Given the description of an element on the screen output the (x, y) to click on. 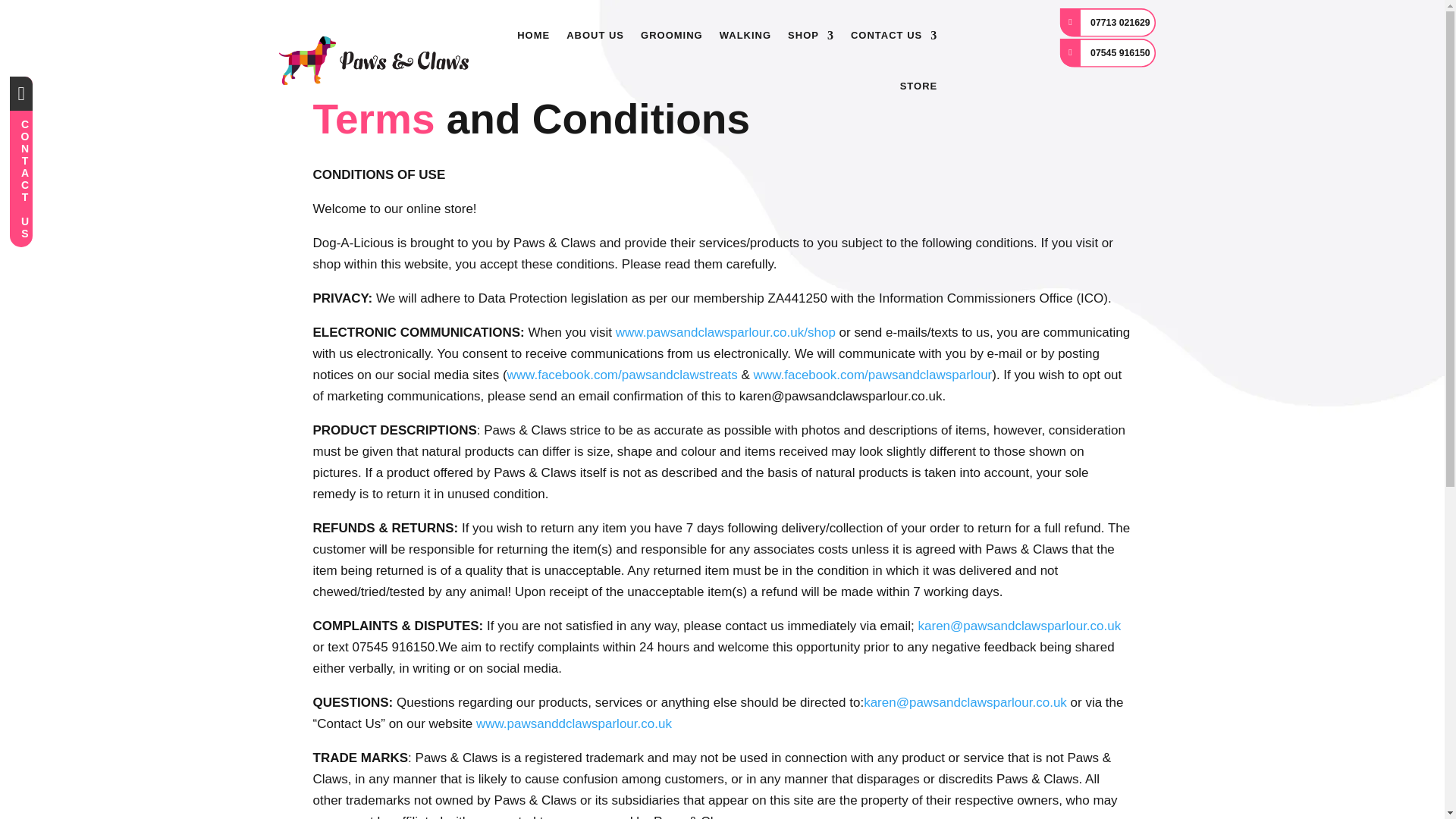
07545 916150 (1117, 55)
GROOMING (671, 34)
07713 021629 (1117, 25)
STORE (918, 85)
SHOP (810, 34)
HOME (533, 34)
ABOUT US (595, 34)
CONTACT US (893, 34)
WALKING (745, 34)
www.pawsanddclawsparlour.co.uk (573, 723)
